Given the description of an element on the screen output the (x, y) to click on. 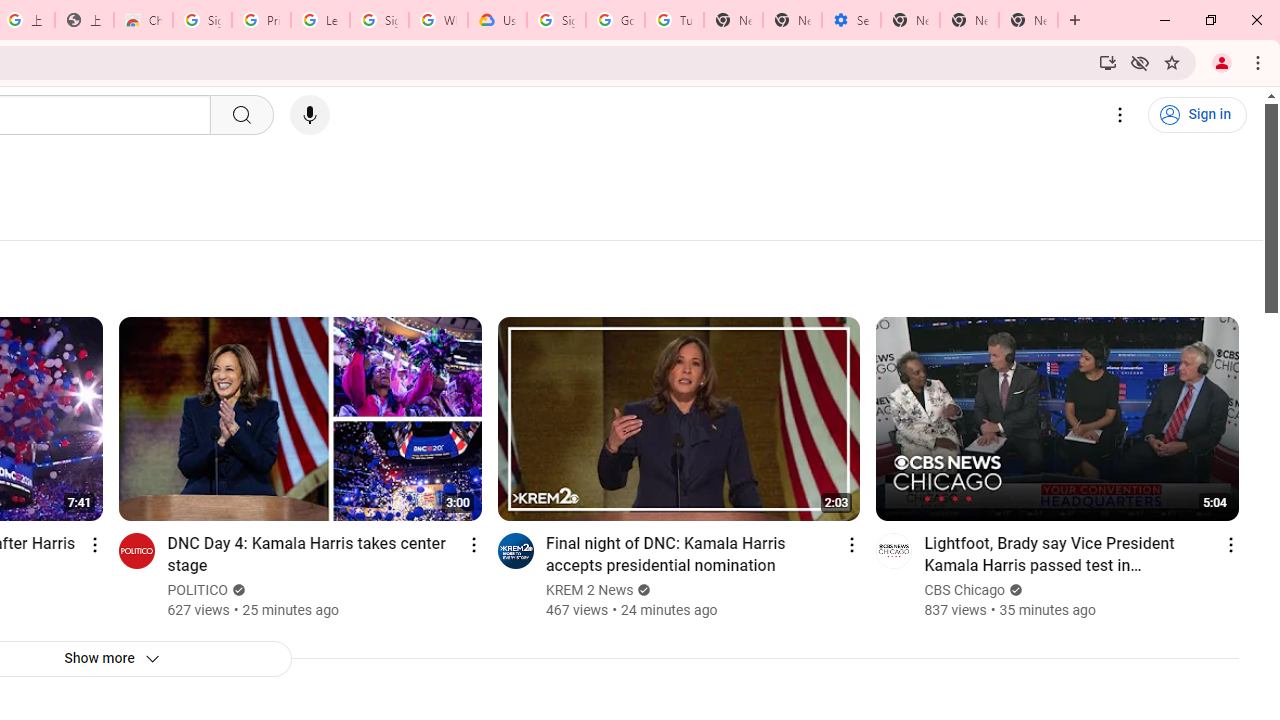
Sign in - Google Accounts (201, 20)
Install YouTube (1107, 62)
New Tab (1028, 20)
KREM 2 News (589, 590)
Sign in - Google Accounts (556, 20)
Chrome Web Store (142, 20)
